Given the description of an element on the screen output the (x, y) to click on. 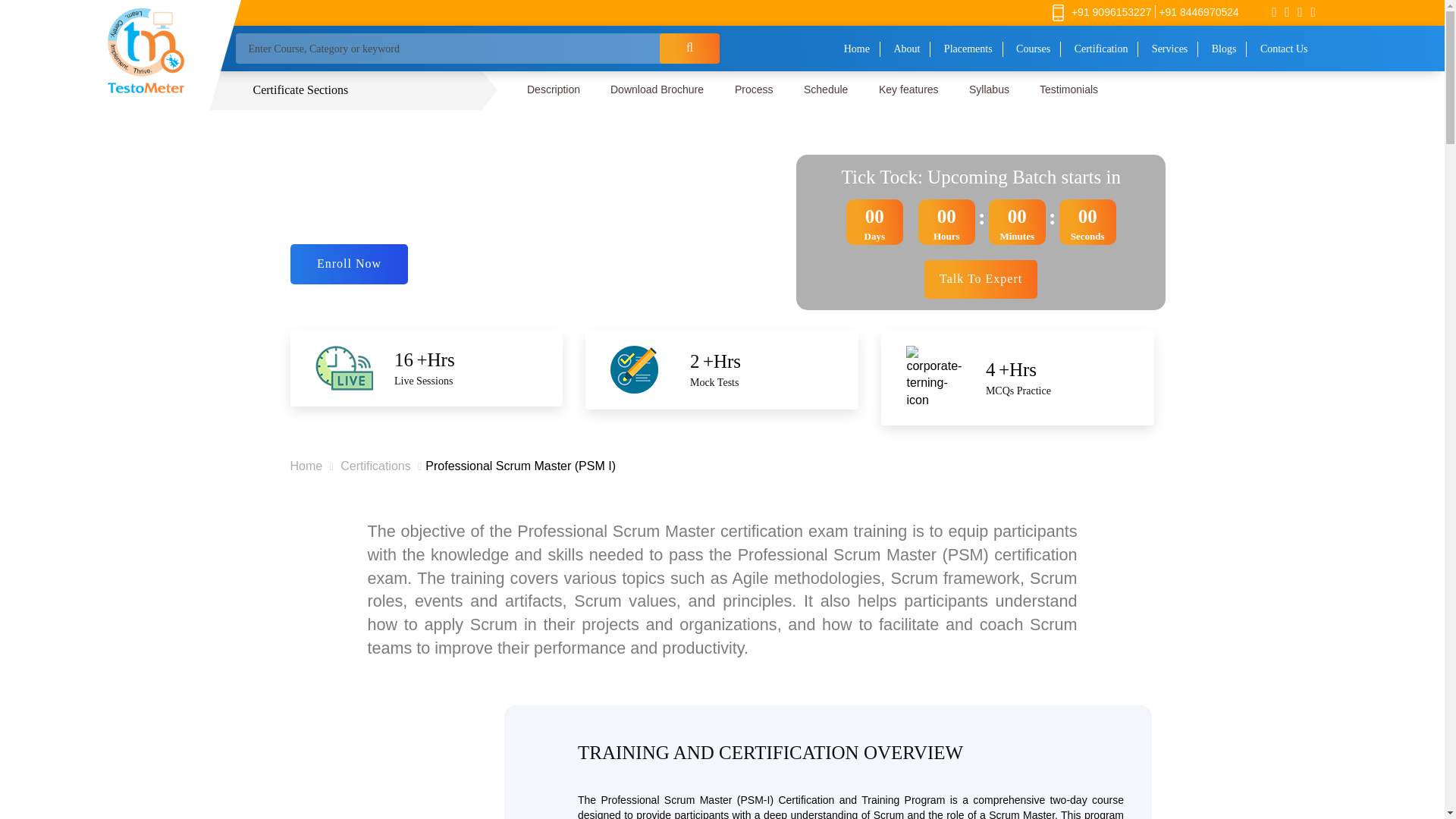
Services (1169, 48)
Testimonials (1069, 90)
Certification (1101, 48)
Download Brochure (657, 90)
Process (754, 90)
Home (305, 465)
Courses (1033, 48)
Certifications (375, 465)
Key features (908, 90)
Talk To Expert (980, 279)
Description (553, 90)
Contact Us (1283, 48)
Home (857, 48)
Blogs (1224, 48)
Schedule (826, 90)
